Given the description of an element on the screen output the (x, y) to click on. 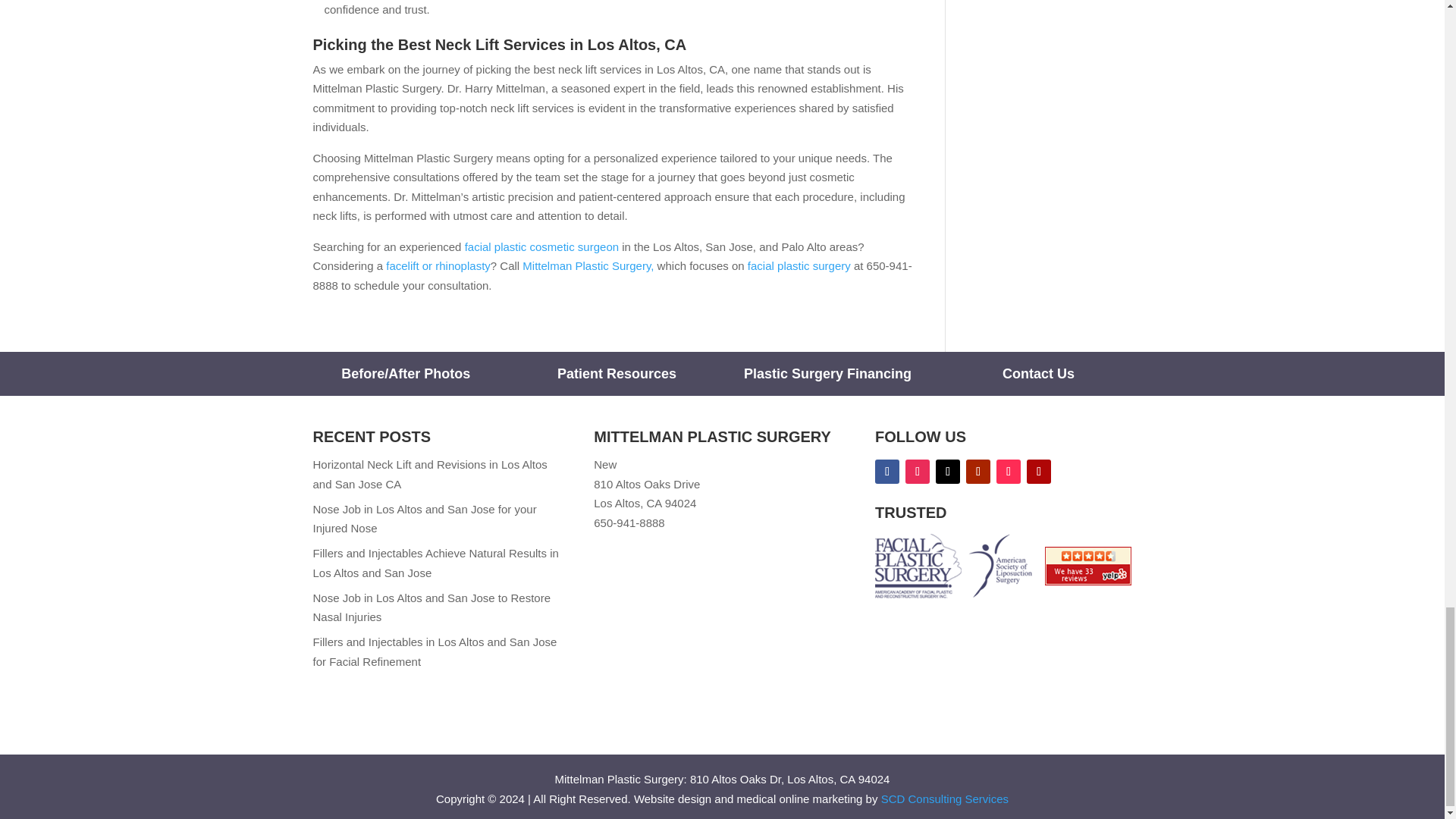
Patient Resources (617, 373)
Follow on TikTok (1007, 471)
SCD Consulting Services (944, 798)
facial plastic surgery (799, 265)
Nose Job in Los Altos and San Jose to Restore Nasal Injuries (431, 607)
facial plastic cosmetic surgeon (541, 246)
Follow on X (947, 471)
facelift or rhinoplasty (437, 265)
Mittelman Plastic Surgery, (587, 265)
Follow on Youtube (978, 471)
Follow on Yelp (1038, 471)
Follow on Instagram (917, 471)
Plastic Surgery Financing (827, 373)
